Given the description of an element on the screen output the (x, y) to click on. 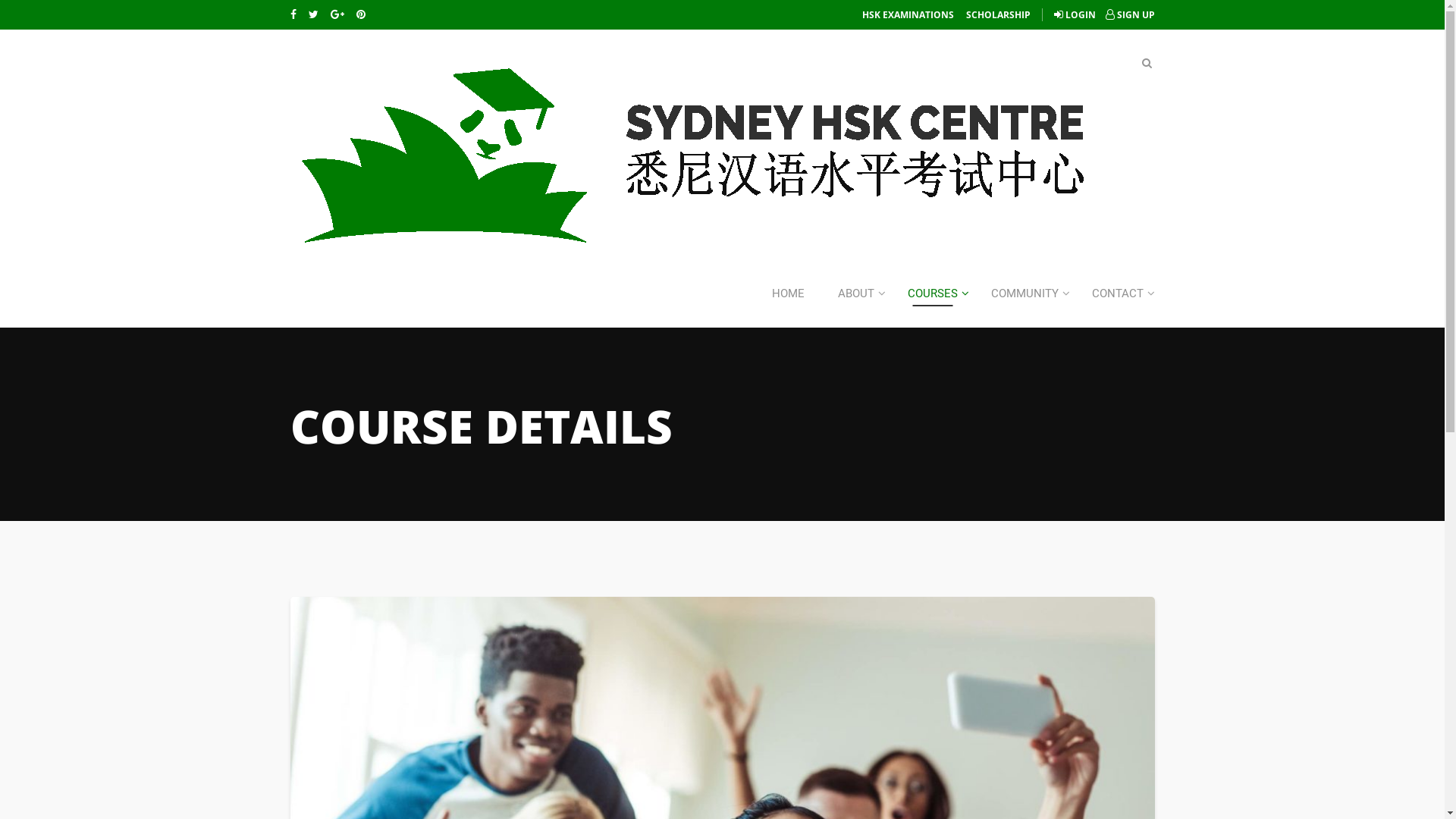
CONTACT Element type: text (1117, 293)
SCHOLARSHIP Element type: text (997, 14)
LOGIN Element type: text (1074, 14)
ABOUT Element type: text (855, 293)
SIGN UP Element type: text (1129, 14)
HOME Element type: text (787, 293)
HSK EXAMINATIONS Element type: text (907, 14)
COURSES Element type: text (931, 293)
COMMUNITY Element type: text (1024, 293)
Logo Element type: hover (698, 151)
